Given the description of an element on the screen output the (x, y) to click on. 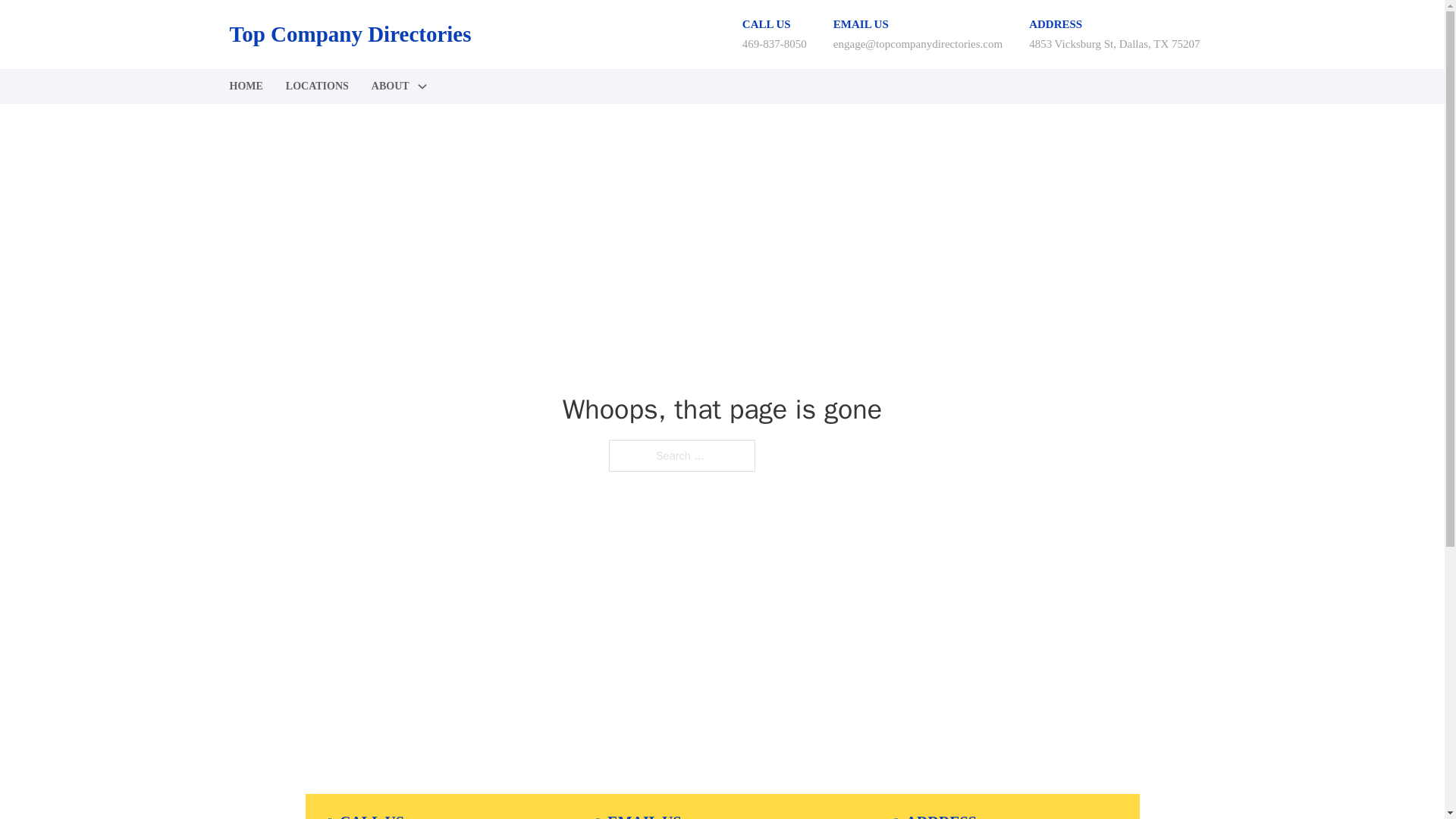
HOME (245, 85)
Top Company Directories (349, 34)
469-837-8050 (774, 43)
LOCATIONS (317, 85)
